Given the description of an element on the screen output the (x, y) to click on. 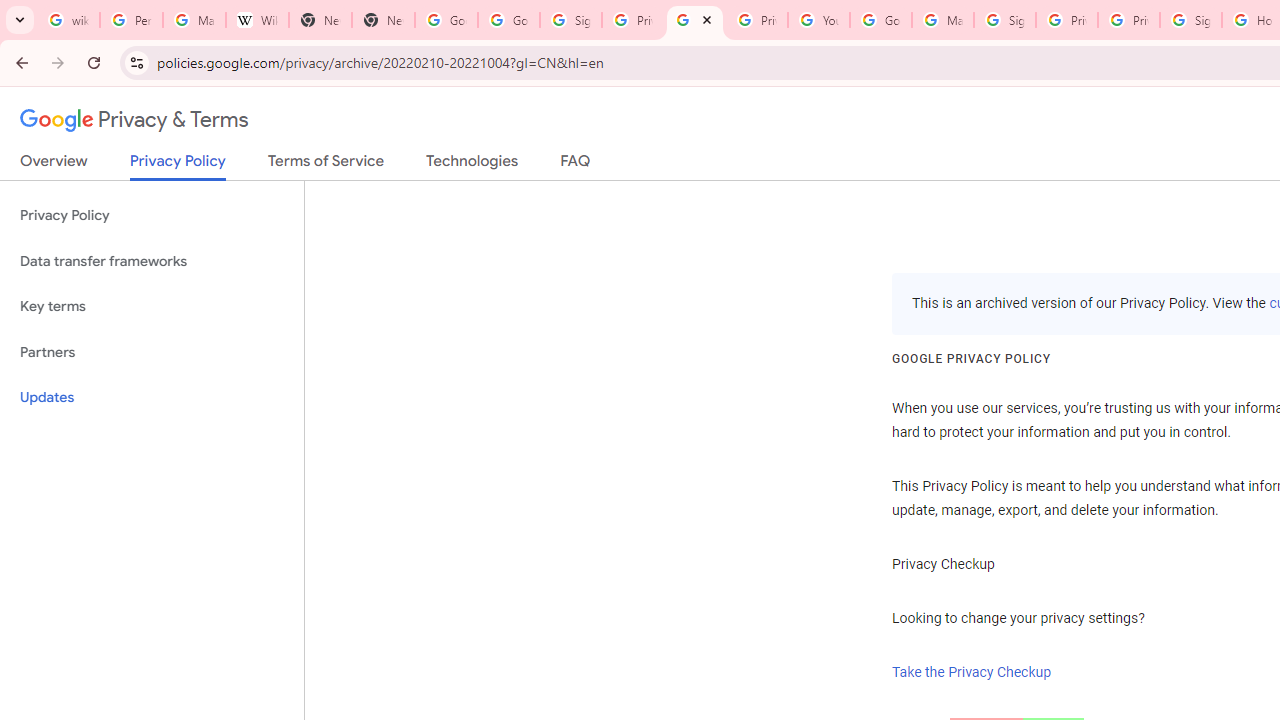
Data transfer frameworks (152, 261)
Sign in - Google Accounts (1190, 20)
Wikipedia:Edit requests - Wikipedia (257, 20)
Partners (152, 352)
Privacy & Terms (134, 120)
Sign in - Google Accounts (570, 20)
Terms of Service (326, 165)
YouTube (818, 20)
